Given the description of an element on the screen output the (x, y) to click on. 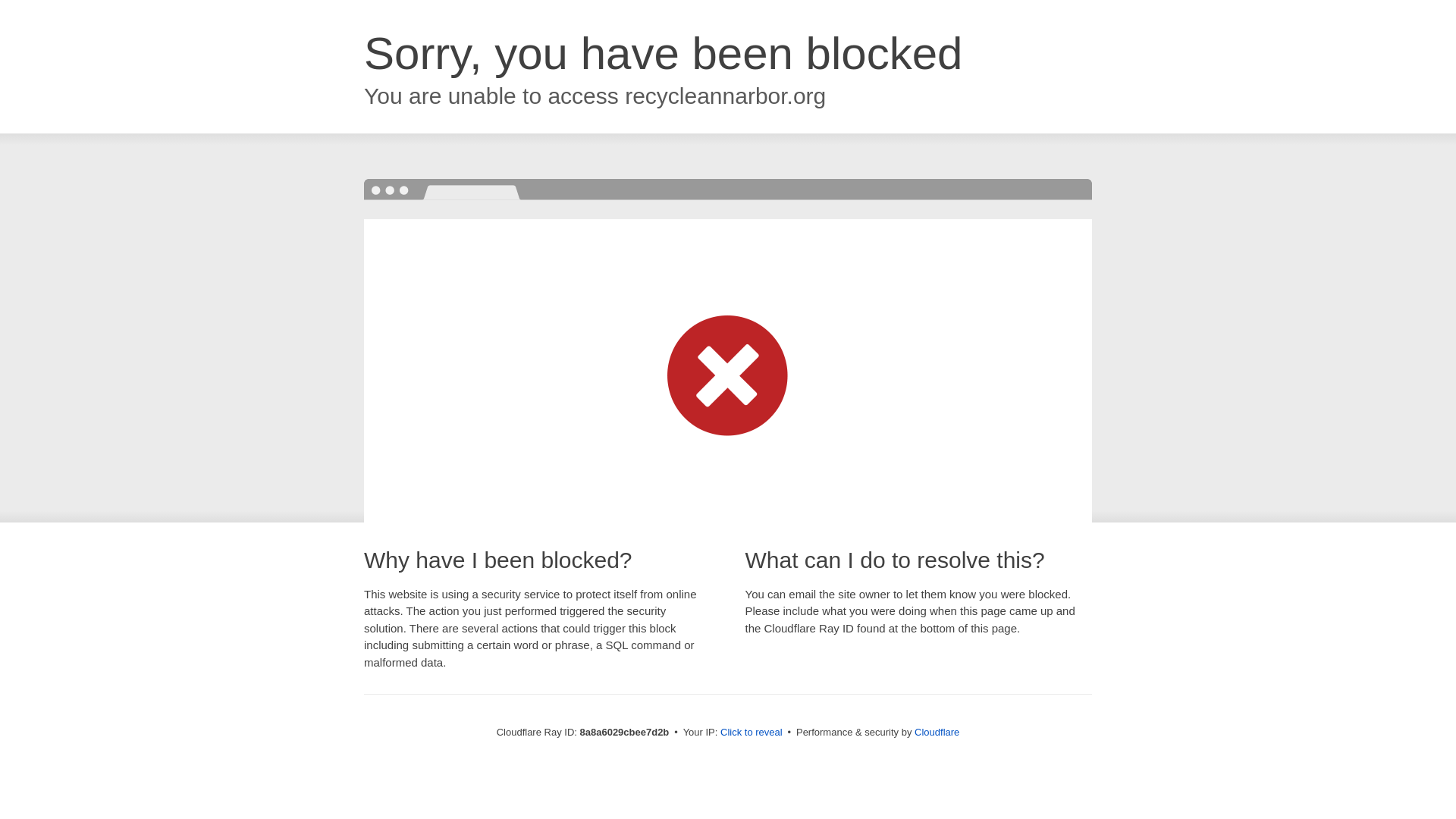
Click to reveal (751, 732)
Cloudflare (936, 731)
